Given the description of an element on the screen output the (x, y) to click on. 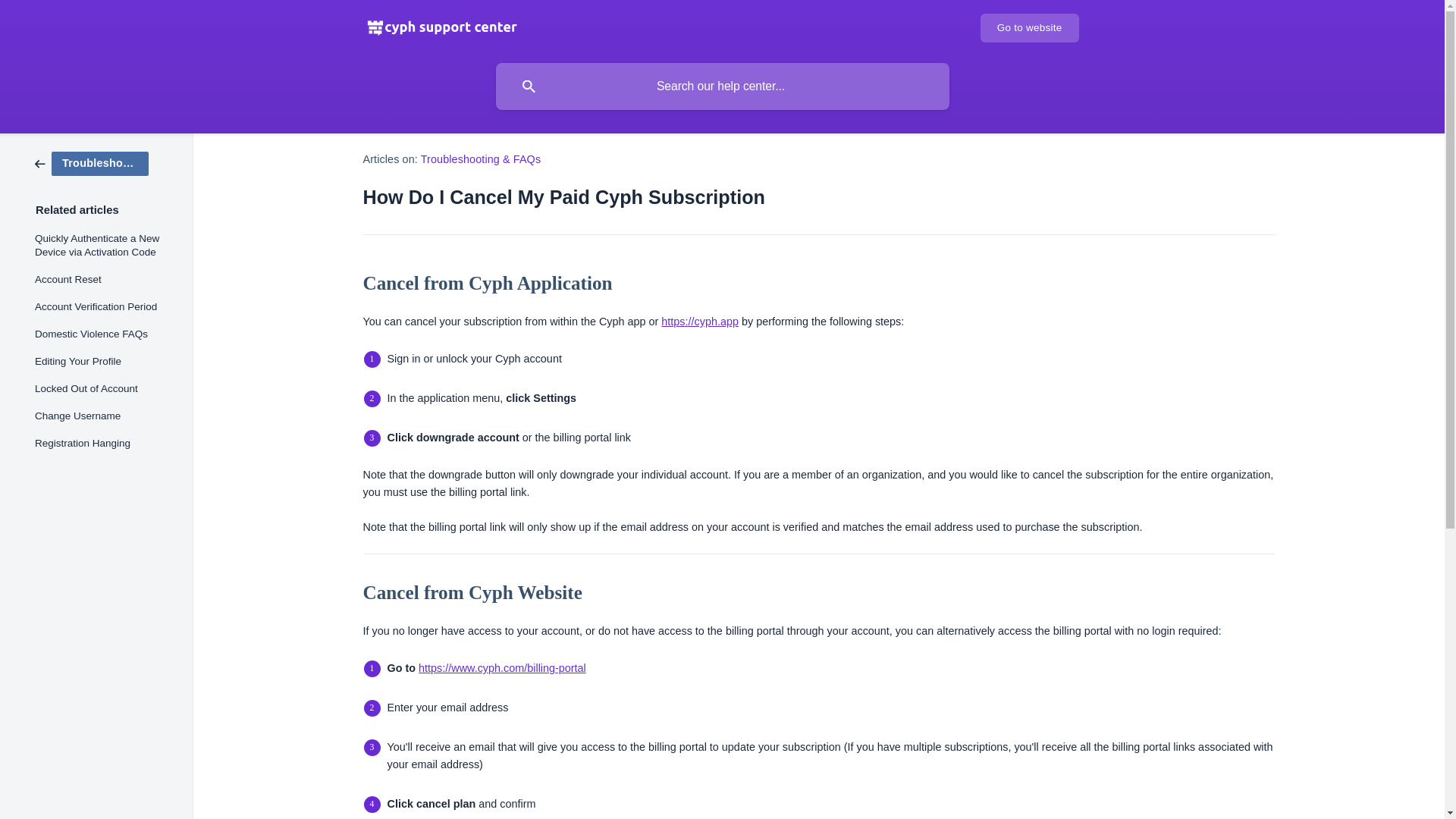
Change Username (102, 415)
Domestic Violence FAQs (102, 334)
Registration Hanging (102, 443)
Account Verification Period (102, 307)
Quickly Authenticate a New Device via Activation Code (102, 245)
Account Reset (102, 279)
Locked Out of Account (102, 388)
Go to website (1028, 27)
Editing Your Profile (102, 361)
